Given the description of an element on the screen output the (x, y) to click on. 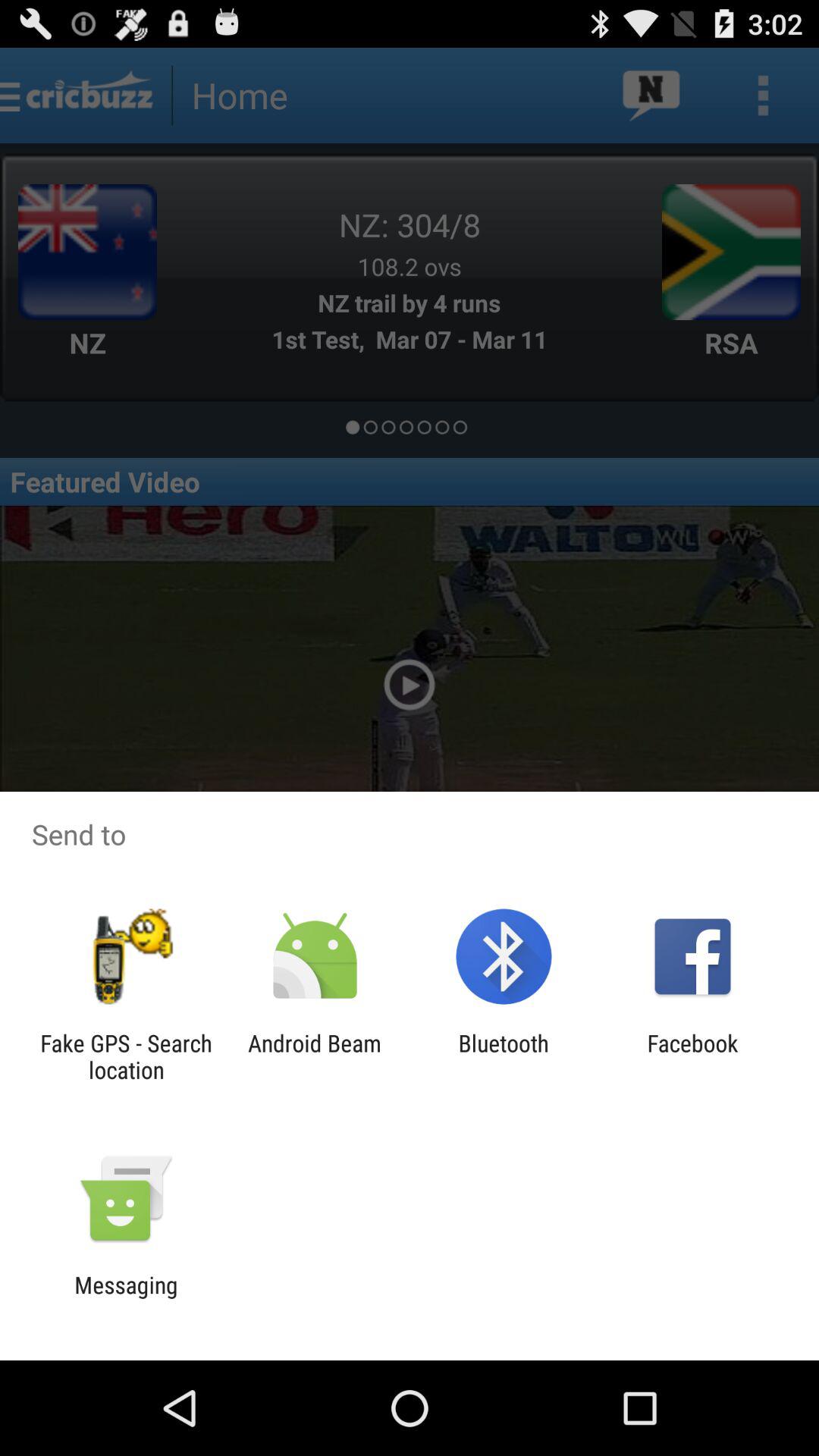
choose messaging app (126, 1298)
